Given the description of an element on the screen output the (x, y) to click on. 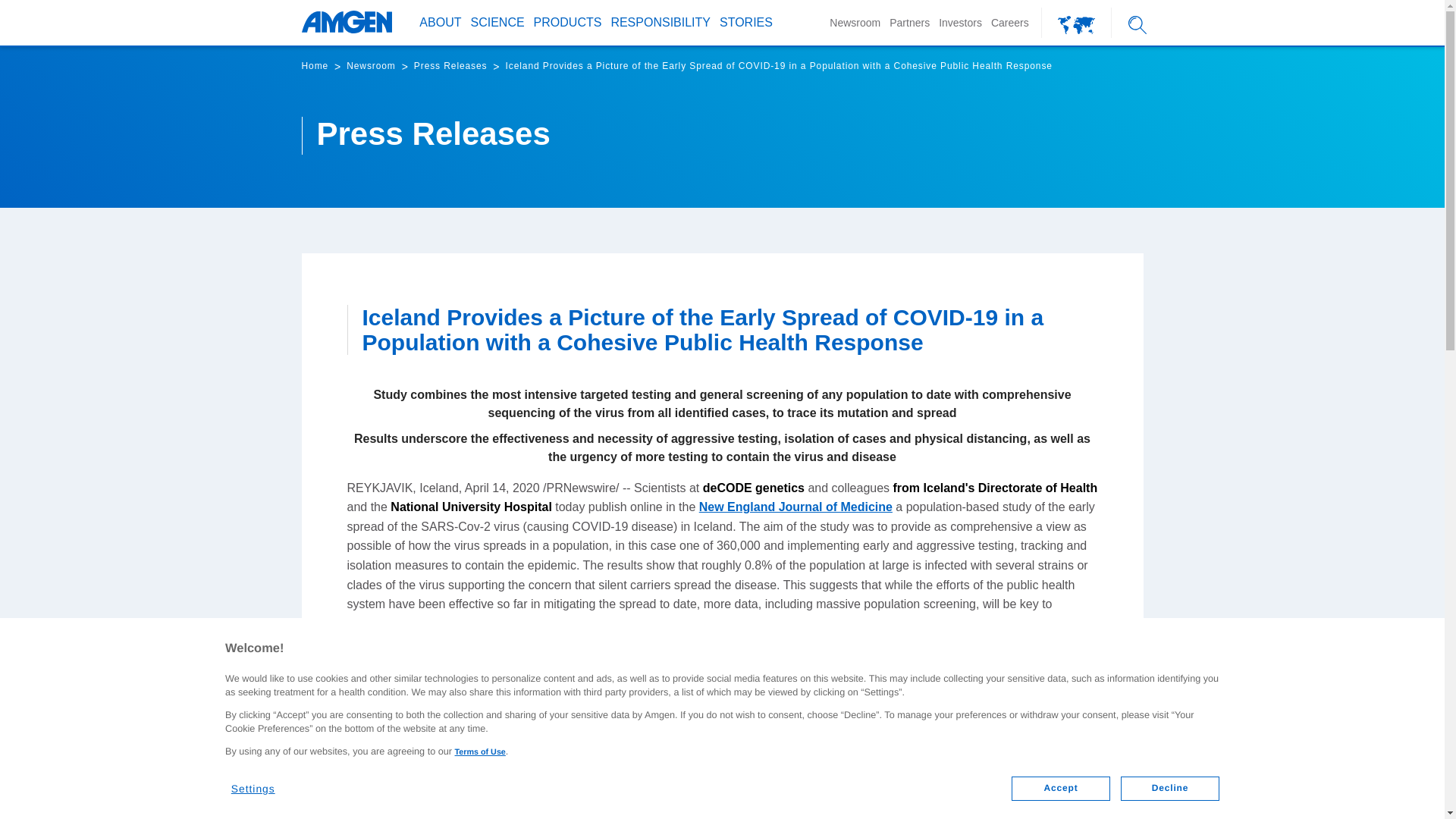
Decline (1170, 788)
Settings (262, 782)
Accept (1060, 788)
Terms of Use (479, 751)
